Given the description of an element on the screen output the (x, y) to click on. 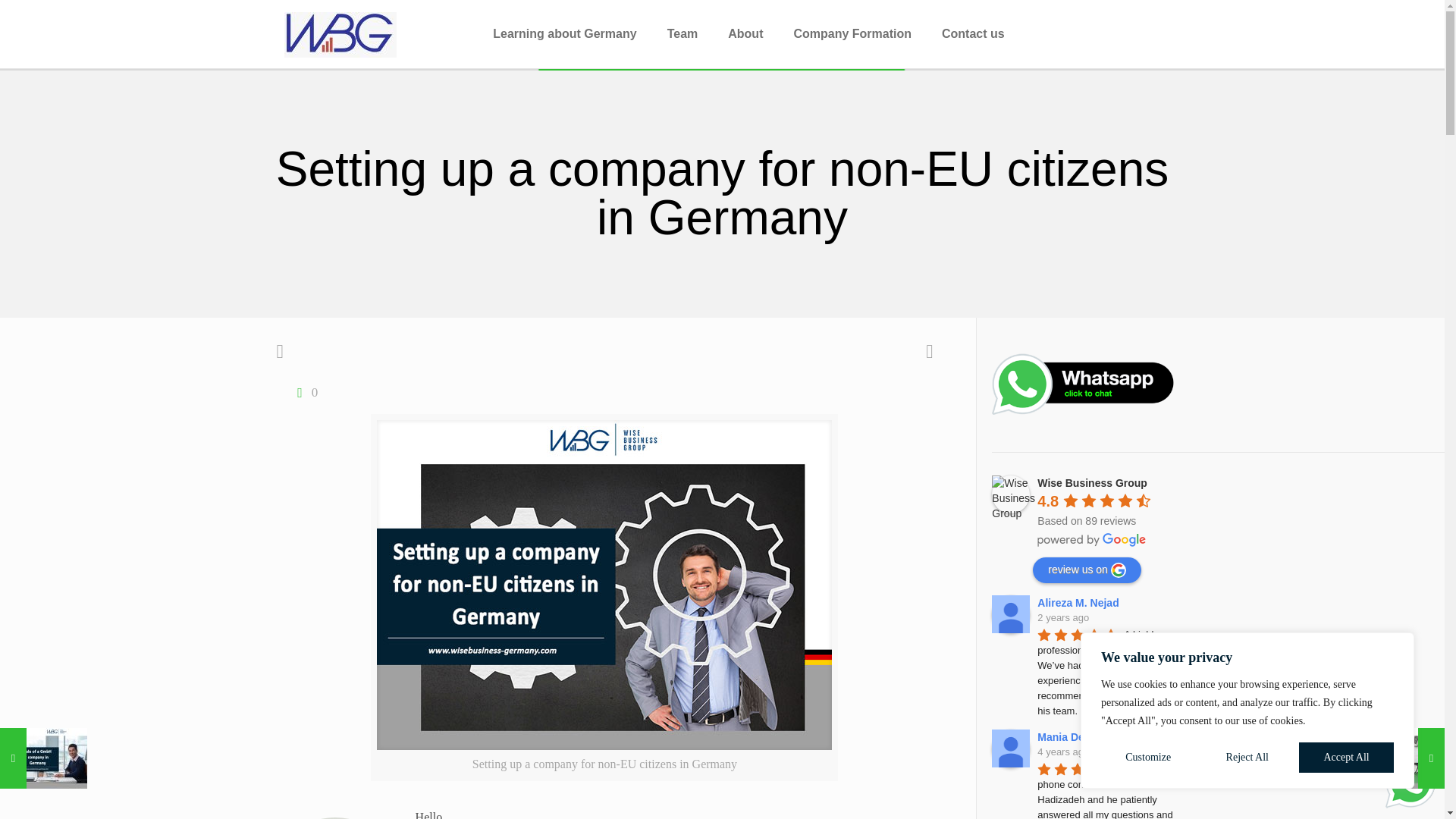
Accept All (1345, 757)
Alireza M. Nejad (1010, 614)
Mania Derakhshan (1010, 748)
Reject All (1246, 757)
Wise Business Group (339, 33)
Wise Business Group (1010, 494)
Customize (1147, 757)
Learning about Germany (563, 33)
powered by Google (1091, 540)
